Given the description of an element on the screen output the (x, y) to click on. 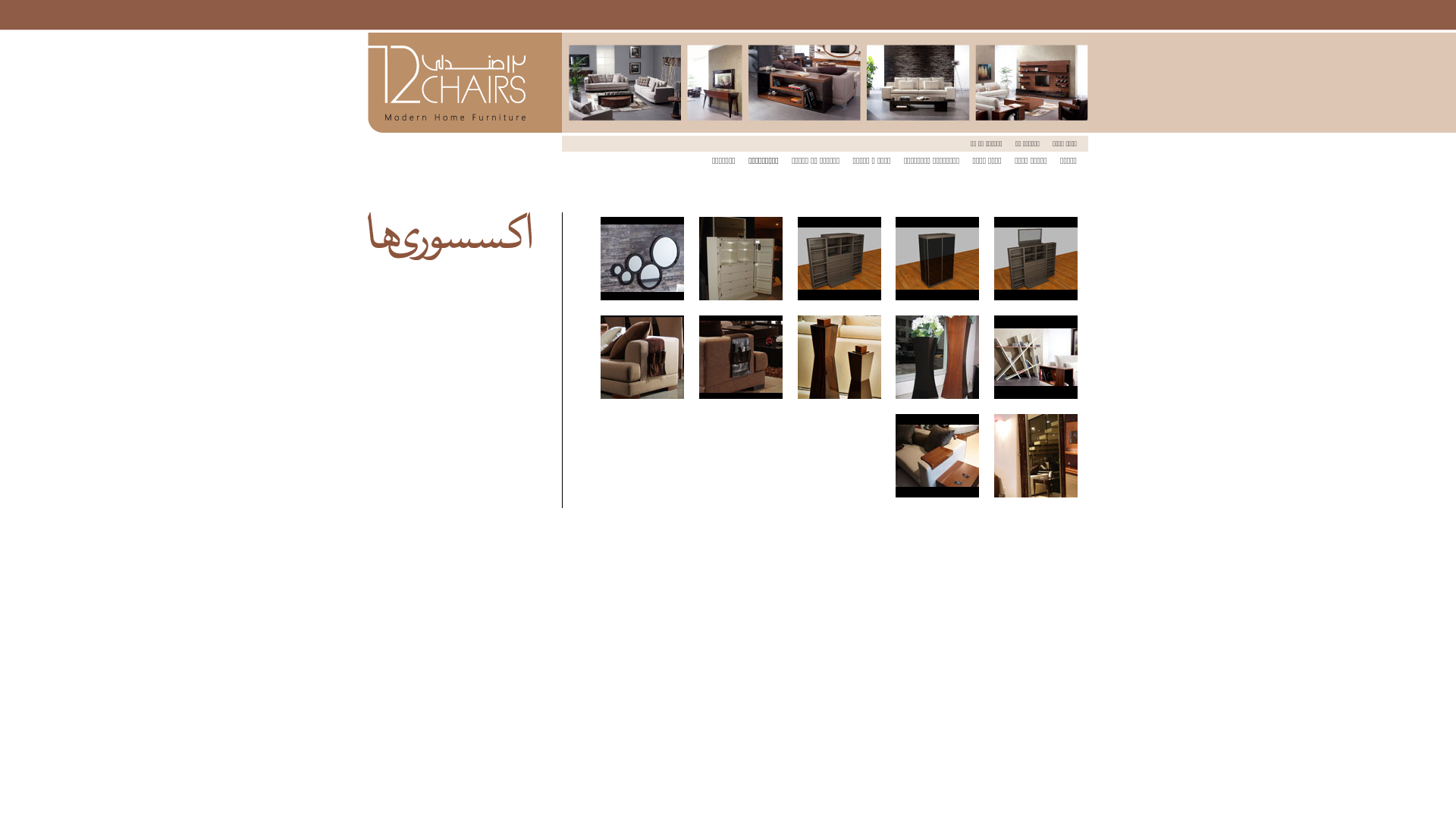
AKSESUARLIK-2 Element type: hover (740, 258)
KUMANDALIK-2 Element type: hover (642, 356)
KUMANDALIK-1 Element type: hover (740, 356)
ELITE MUMLUK Element type: hover (839, 356)
AKSESUARLIK 3D-4 Element type: hover (839, 258)
BULUT AYNA Element type: hover (642, 258)
MONDO BOY AYNASI Element type: hover (1035, 455)
AKSESUARLIK 3D-1 Element type: hover (1035, 258)
PRESTIGE KOL SEHPASI Element type: hover (937, 455)
AKSESUARLIK 3D-3 Element type: hover (937, 258)
